Given the description of an element on the screen output the (x, y) to click on. 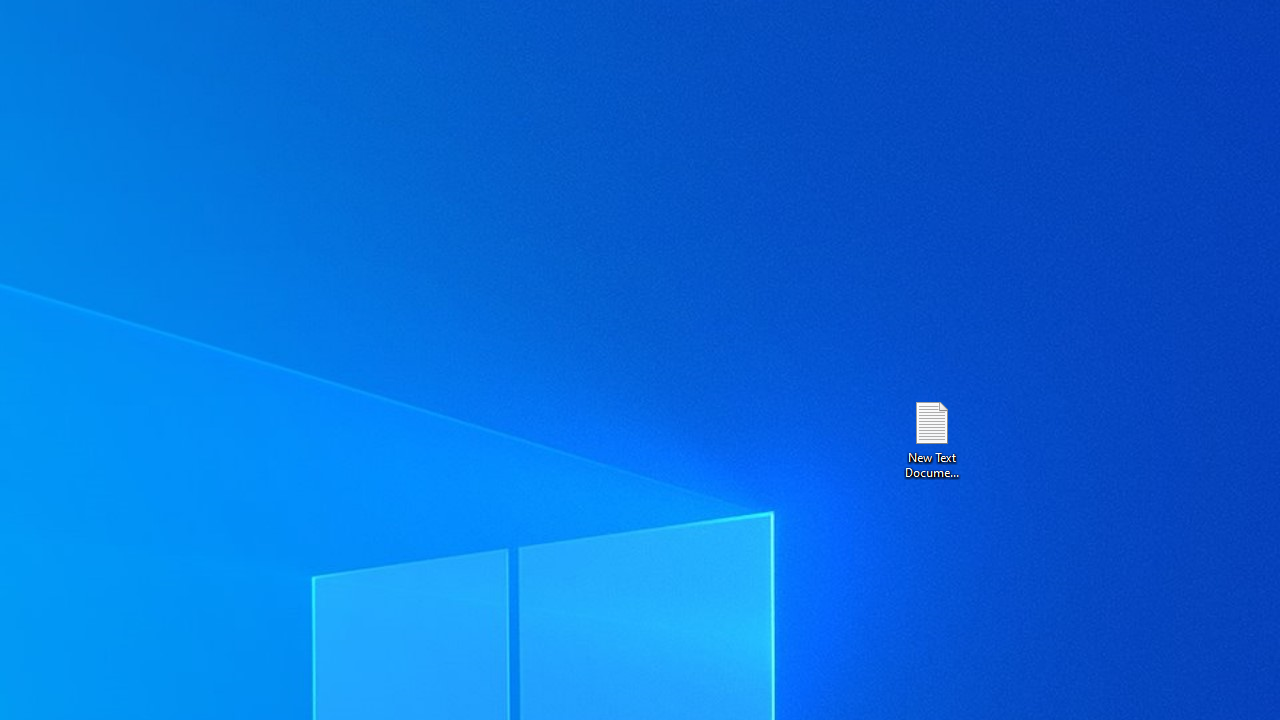
New Text Document (2) (931, 438)
